Given the description of an element on the screen output the (x, y) to click on. 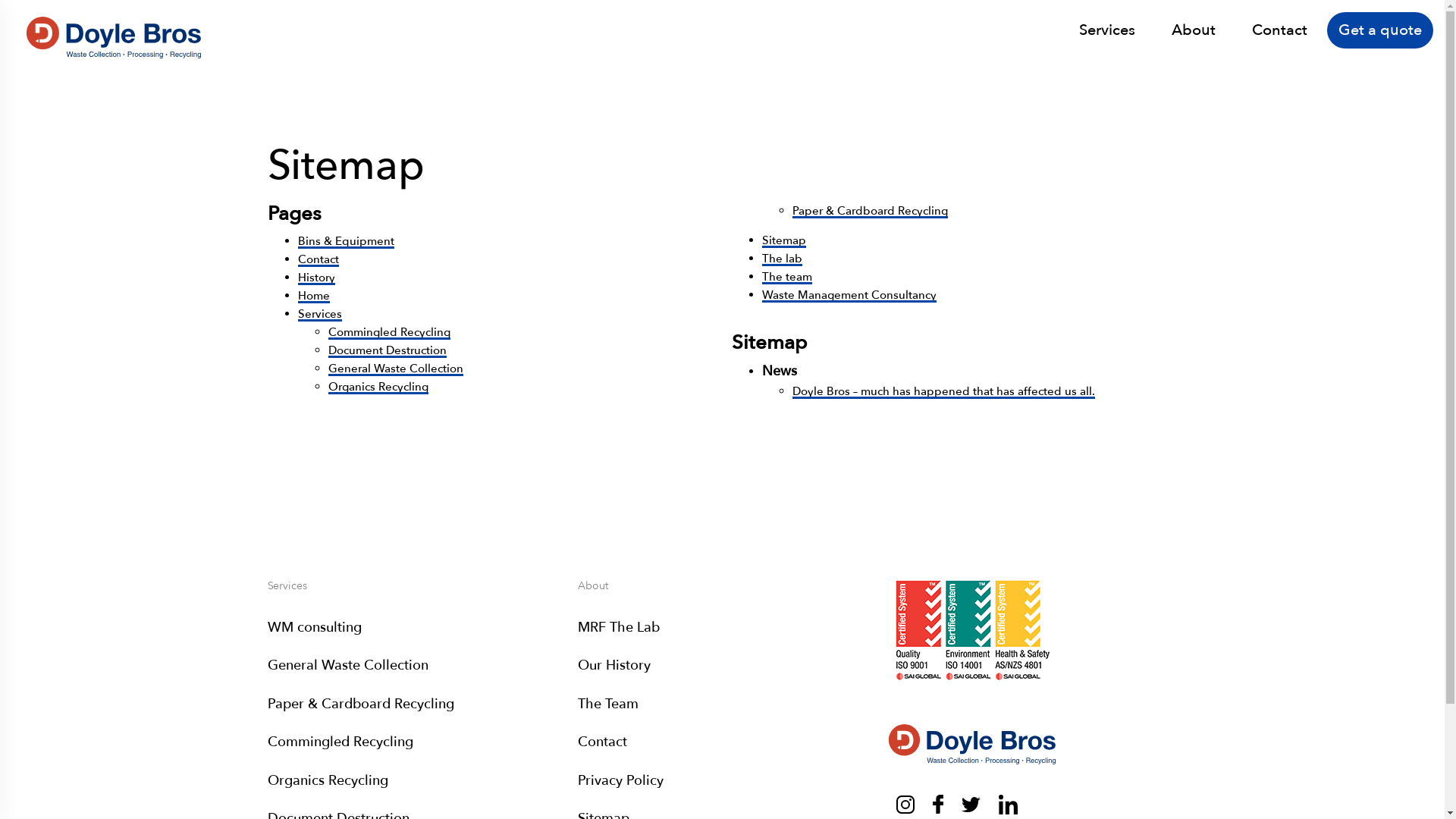
The lab Element type: text (782, 258)
Services Element type: text (1107, 29)
Bins & Equipment Element type: text (345, 240)
News Element type: text (779, 370)
Paper & Cardboard Recycling Element type: text (869, 210)
History Element type: text (315, 277)
Document Destruction Element type: text (386, 349)
The Team Element type: text (607, 703)
Waste Management Consultancy Element type: text (849, 294)
MRF The Lab Element type: text (618, 627)
About Element type: text (1193, 29)
Sitemap Element type: text (784, 239)
The team Element type: text (787, 276)
Contact Element type: text (602, 741)
Organics Recycling Element type: text (326, 780)
Our History Element type: text (613, 664)
WM consulting Element type: text (313, 627)
Organics Recycling Element type: text (377, 386)
General Waste Collection Element type: text (394, 368)
Contact Element type: text (1279, 29)
General Waste Collection Element type: text (346, 664)
Commingled Recycling Element type: text (339, 741)
Get a quote Element type: text (1379, 29)
Commingled Recycling Element type: text (388, 331)
Privacy Policy Element type: text (620, 780)
Services Element type: text (319, 313)
Contact Element type: text (317, 258)
Home Element type: text (313, 295)
Paper & Cardboard Recycling Element type: text (359, 703)
